Given the description of an element on the screen output the (x, y) to click on. 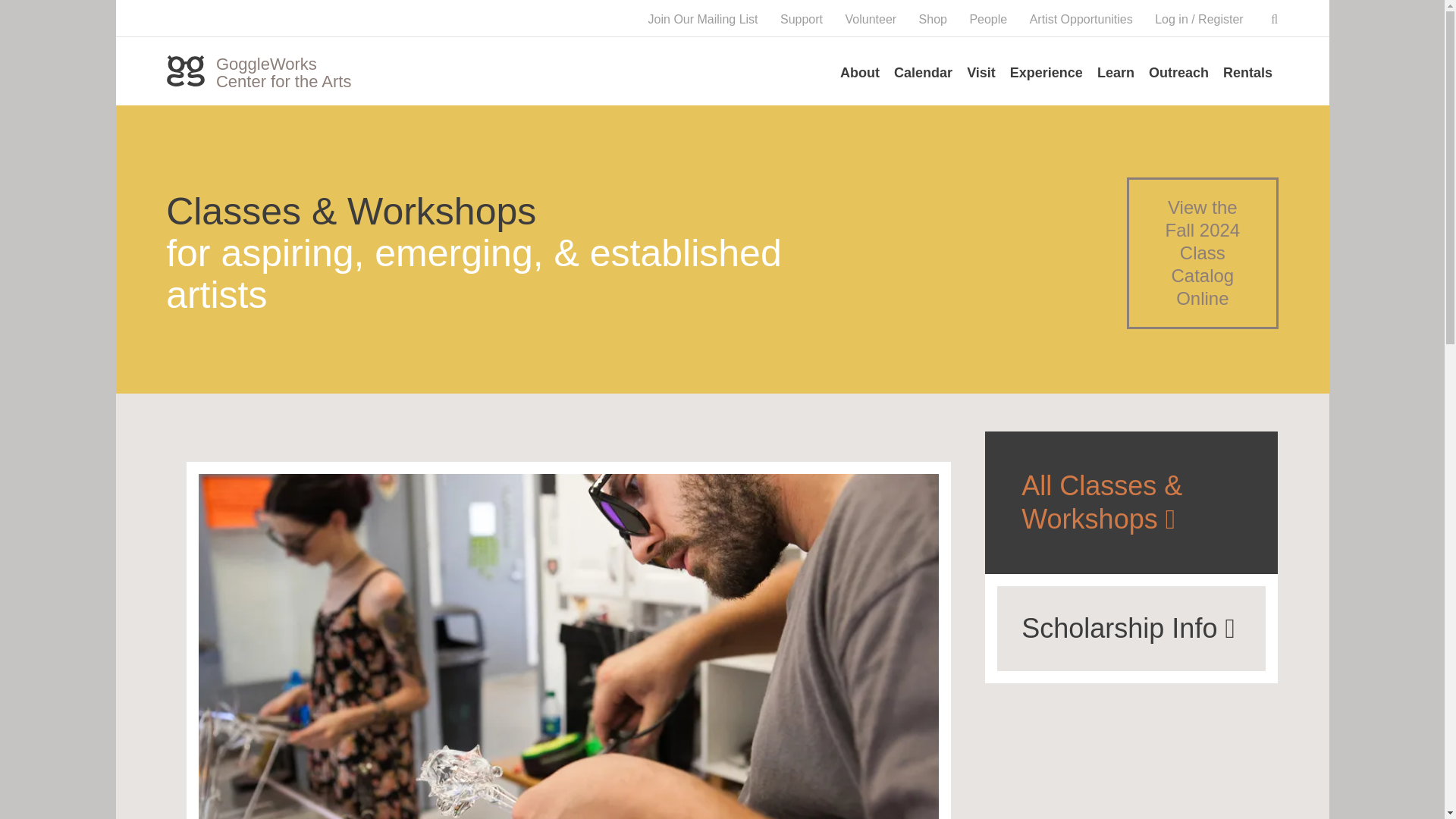
Join Our Mailing List (702, 19)
Calendar (923, 70)
Experience (1045, 70)
Artist Opportunities (1080, 19)
Volunteer (870, 19)
Support (801, 19)
People (988, 19)
Shop (932, 19)
